Given the description of an element on the screen output the (x, y) to click on. 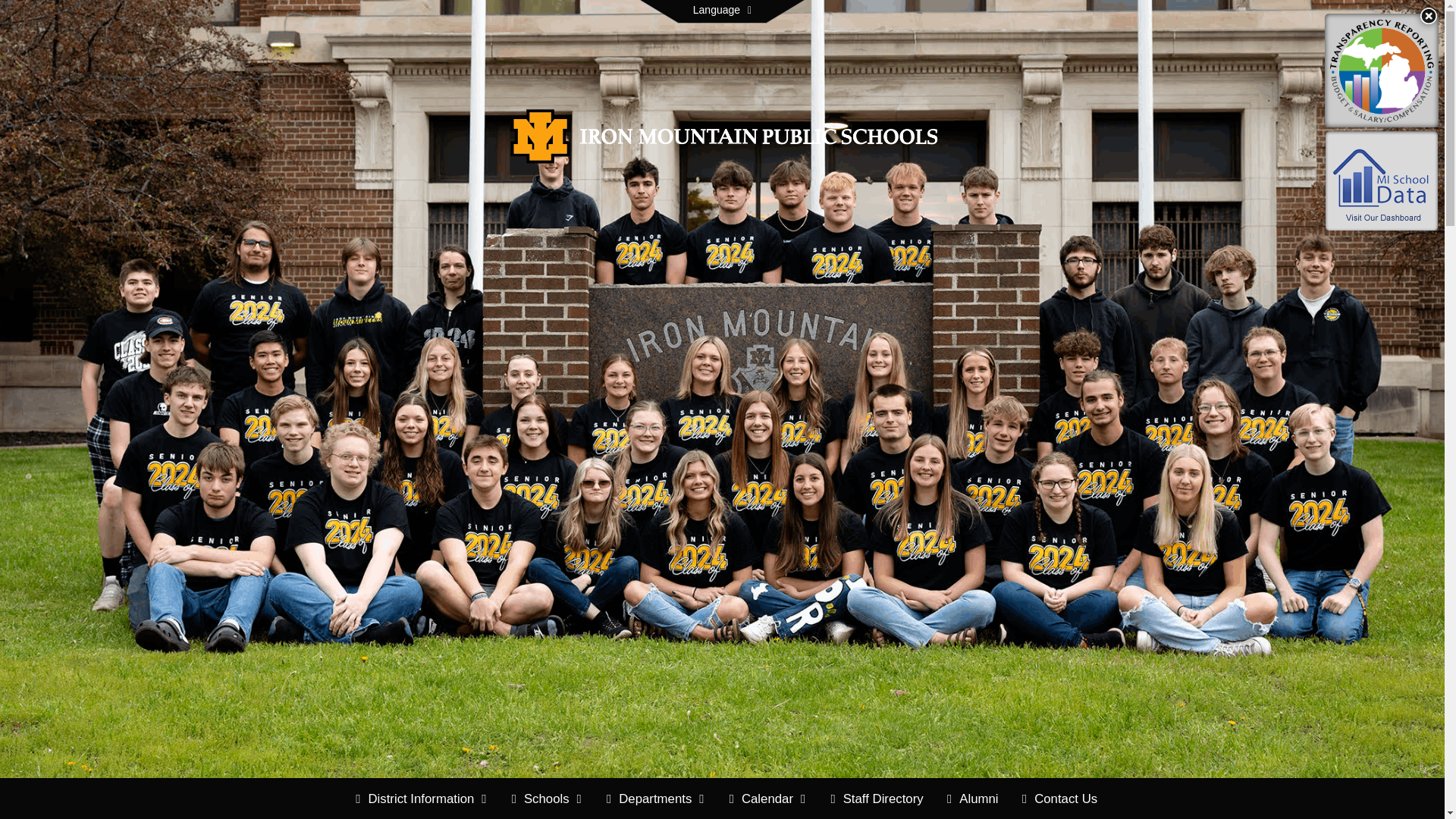
Schools (547, 799)
Contact Us (1059, 799)
Language (721, 11)
Staff Directory (876, 799)
Departments (655, 799)
Calendar (767, 799)
District Information (421, 799)
Alumni (972, 799)
